Given the description of an element on the screen output the (x, y) to click on. 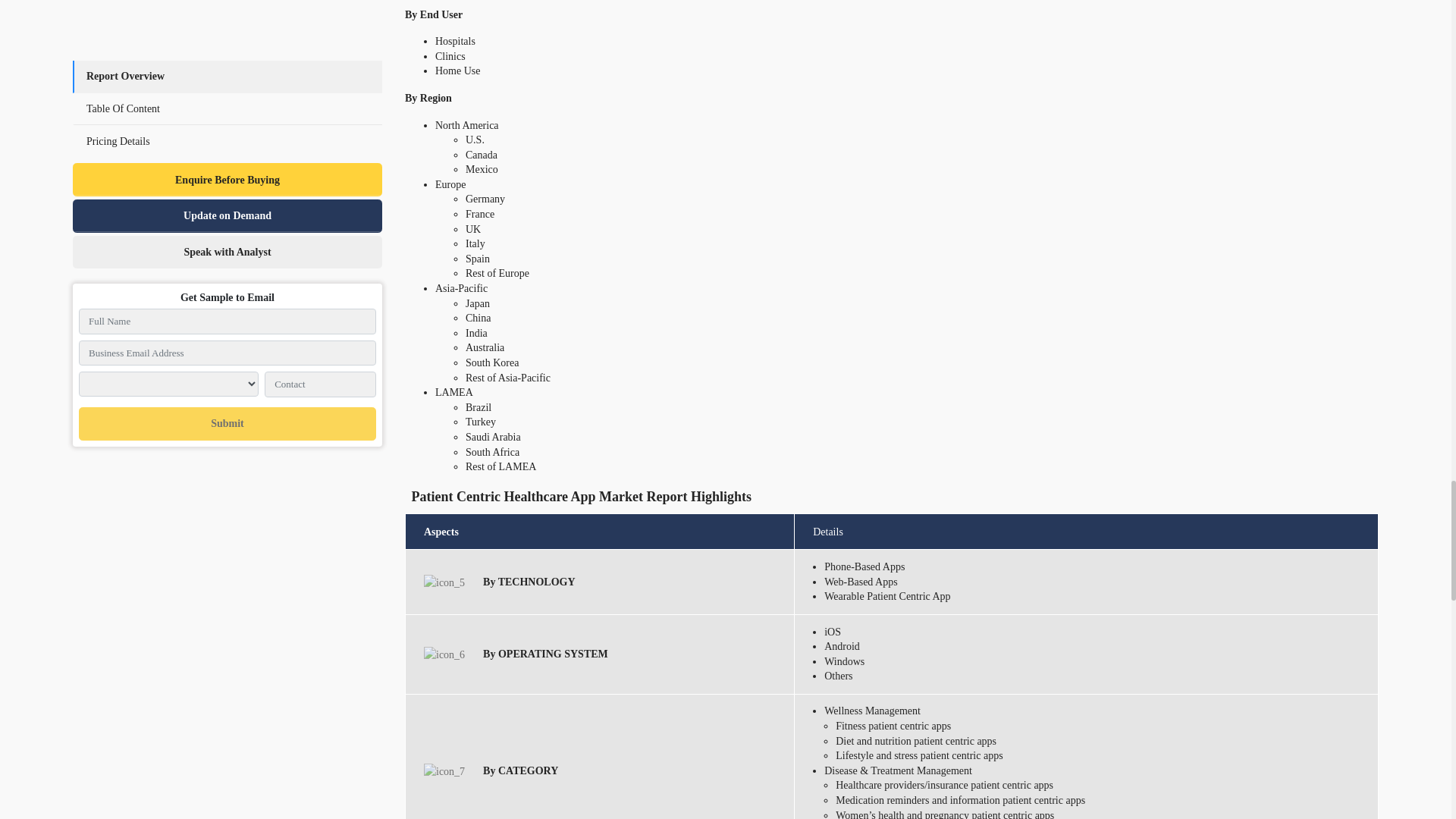
Patient Centric Healthcare App Market By OPERATING SYSTEM (443, 654)
Patient Centric Healthcare App Market By TECHNOLOGY (443, 582)
Patient Centric Healthcare App Market By CATEGORY (443, 771)
